Given the description of an element on the screen output the (x, y) to click on. 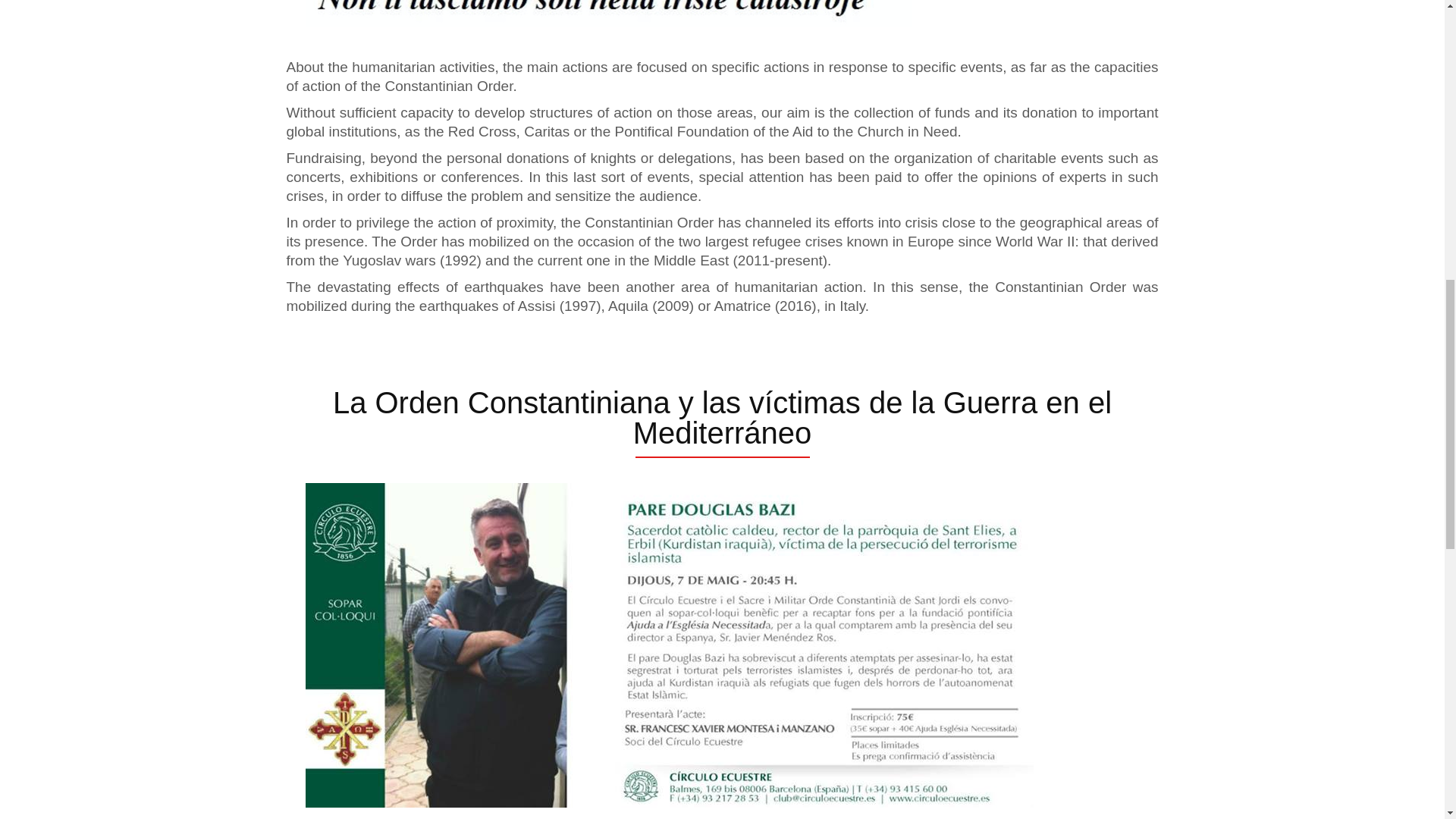
accion-humanitaria-orden-constantiniana (607, 13)
